Given the description of an element on the screen output the (x, y) to click on. 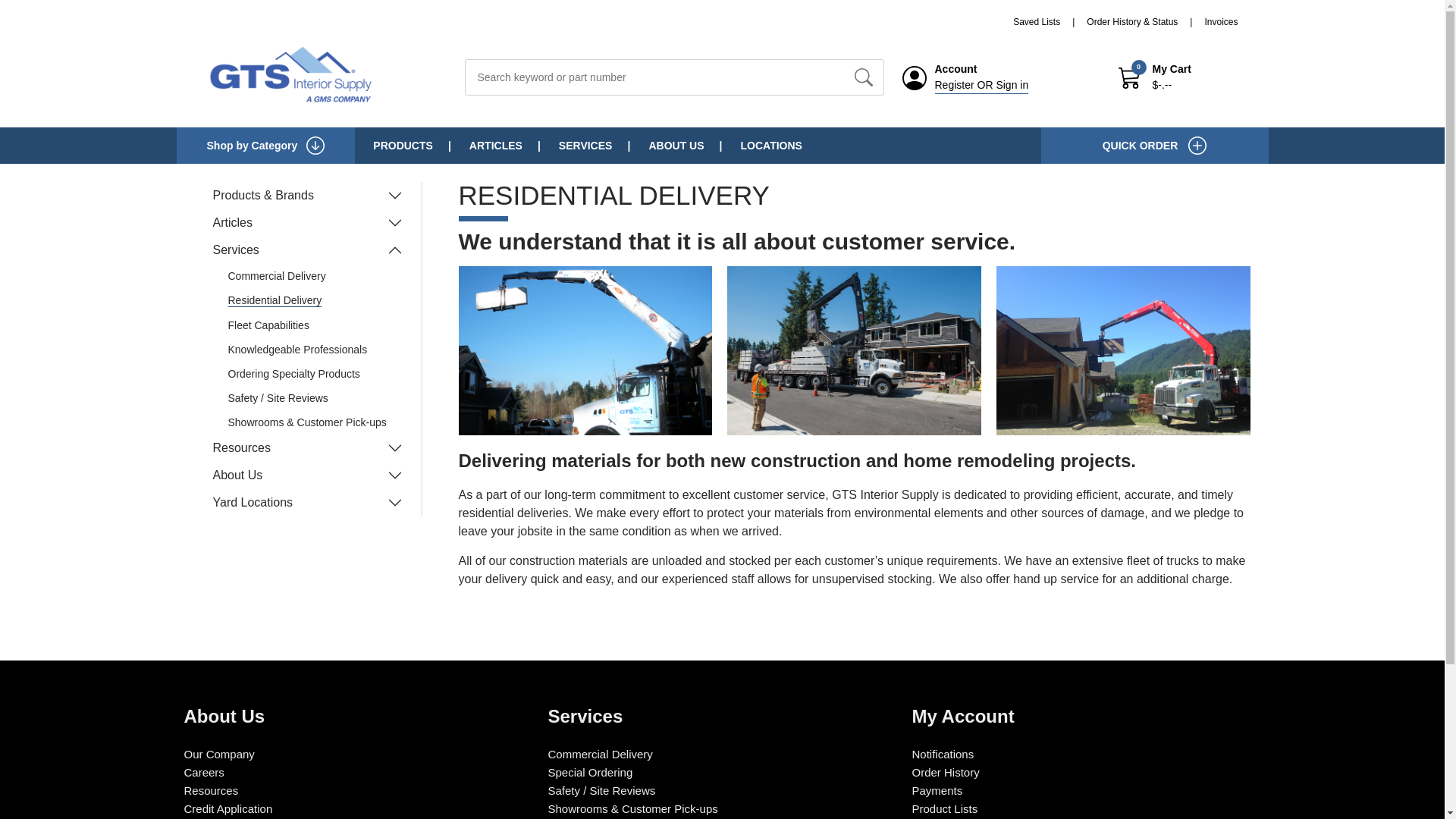
Register OR Sign in (980, 85)
Saved Lists (1049, 21)
Invoices (1220, 21)
Shop by Category (265, 145)
